Given the description of an element on the screen output the (x, y) to click on. 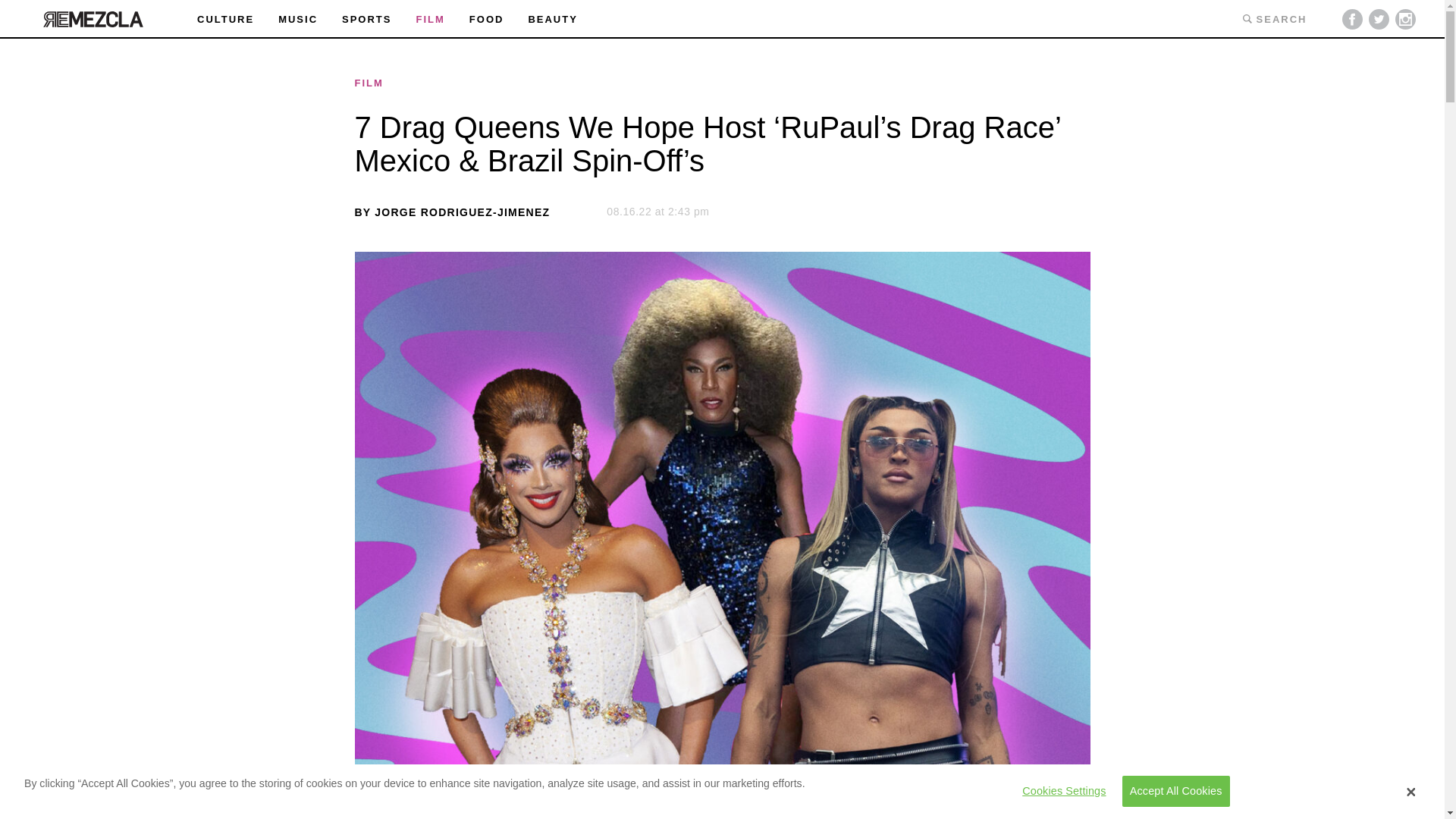
FOOD (485, 19)
SPORTS (366, 19)
CULTURE (224, 19)
FILM (722, 82)
BY JORGE RODRIGUEZ-JIMENEZ (452, 212)
SEARCH (1274, 18)
MUSIC (297, 19)
BEAUTY (551, 19)
